Given the description of an element on the screen output the (x, y) to click on. 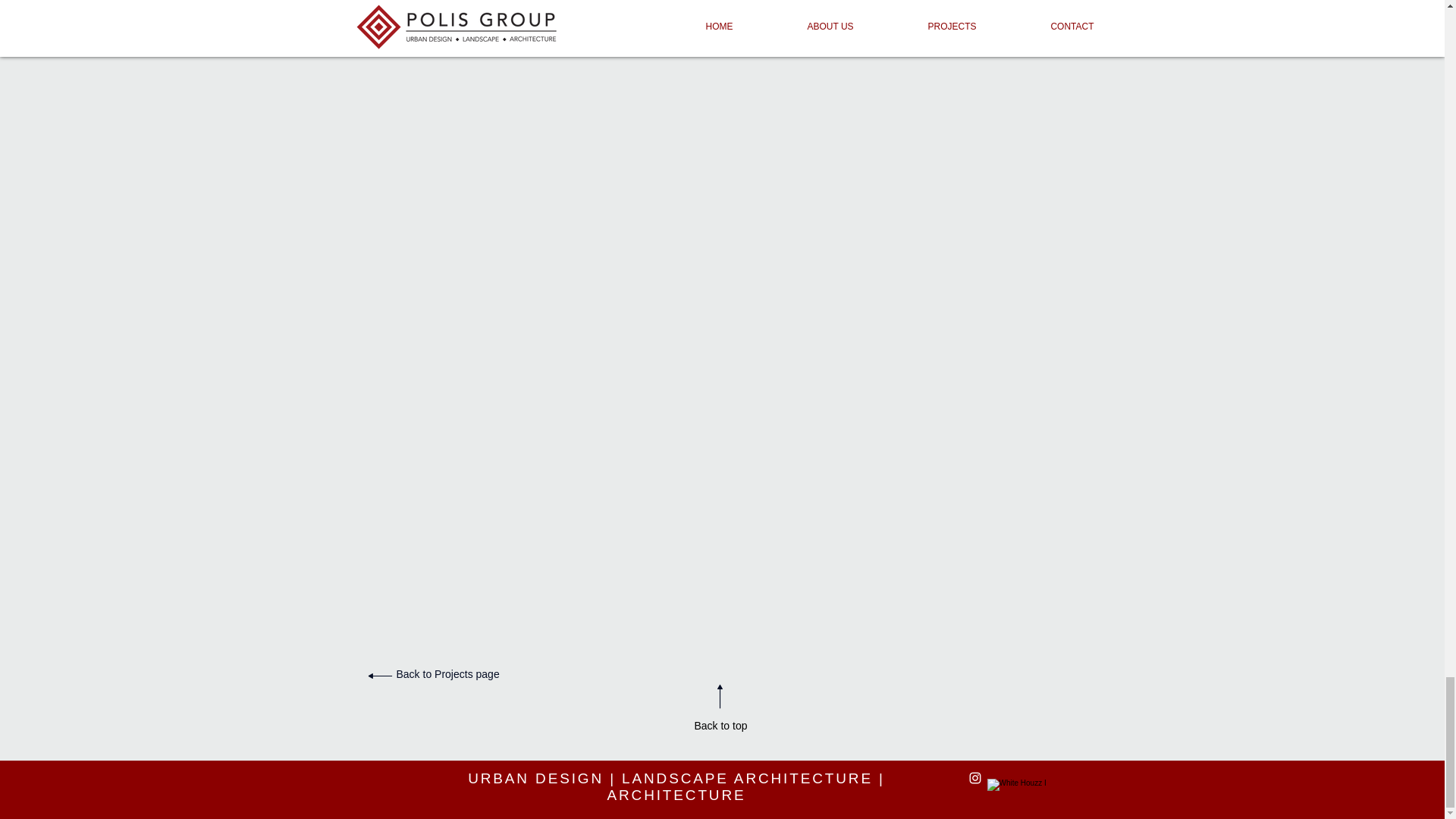
Back to top (720, 725)
Back to Projects page (447, 674)
